Given the description of an element on the screen output the (x, y) to click on. 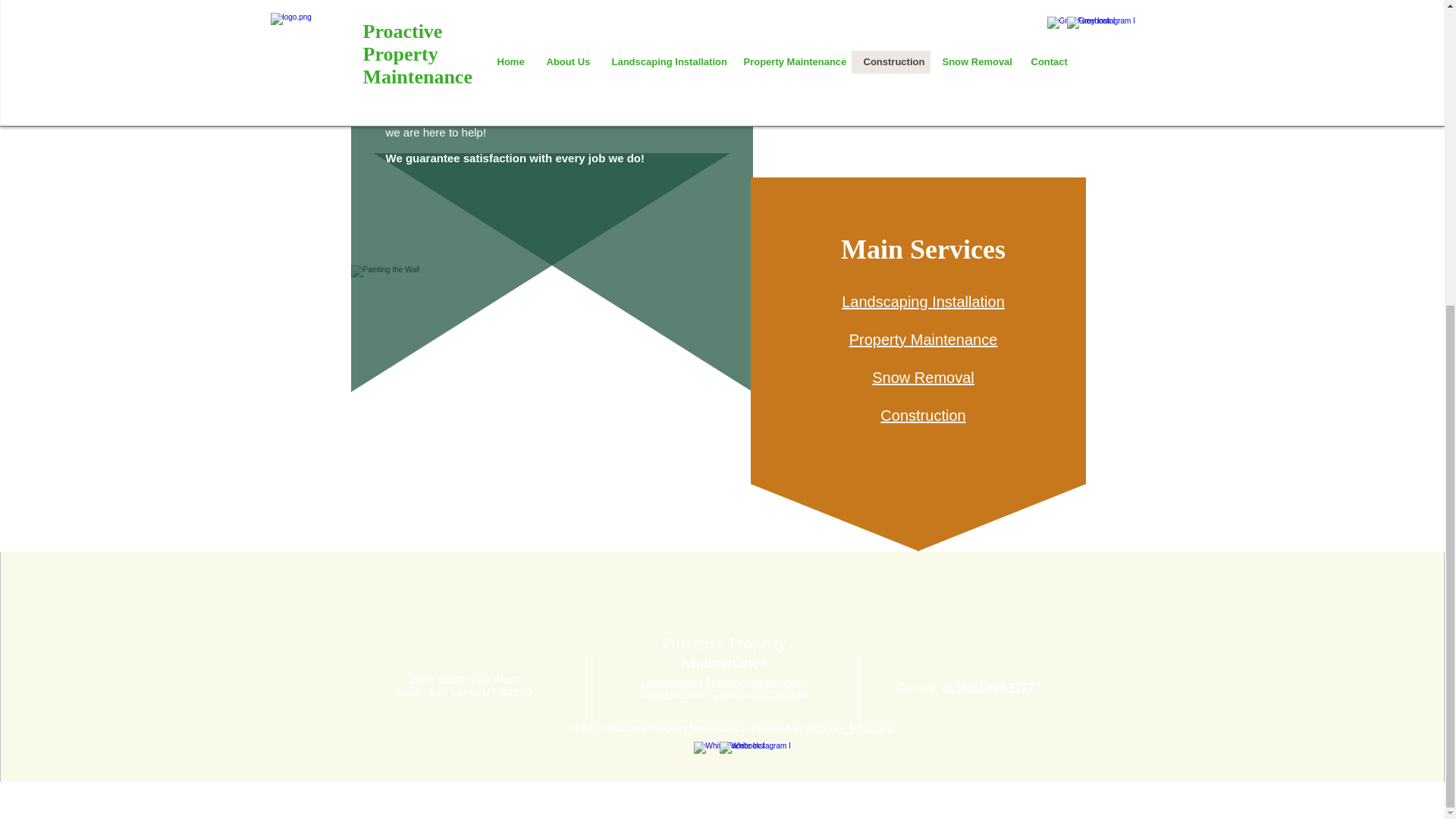
Proactive Property Maintenance (724, 652)
Construction (922, 415)
Snow Removal (923, 377)
Landscaping Installation (922, 301)
Landscaping (668, 681)
Property Maintenance (922, 339)
